Given the description of an element on the screen output the (x, y) to click on. 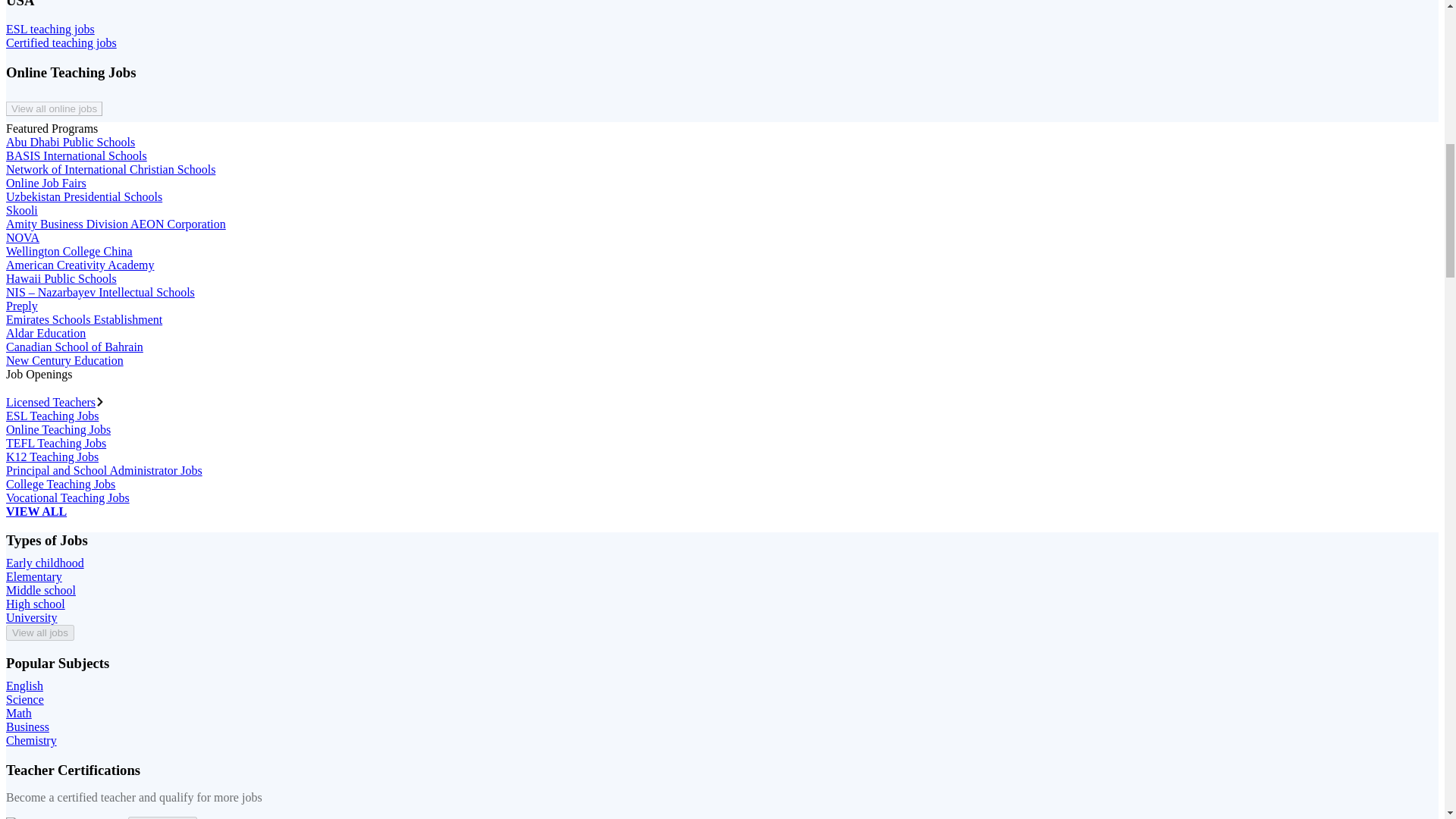
Certified teaching jobs (60, 42)
ESL teaching jobs (49, 29)
Chevron Arrow Icon (100, 401)
